Given the description of an element on the screen output the (x, y) to click on. 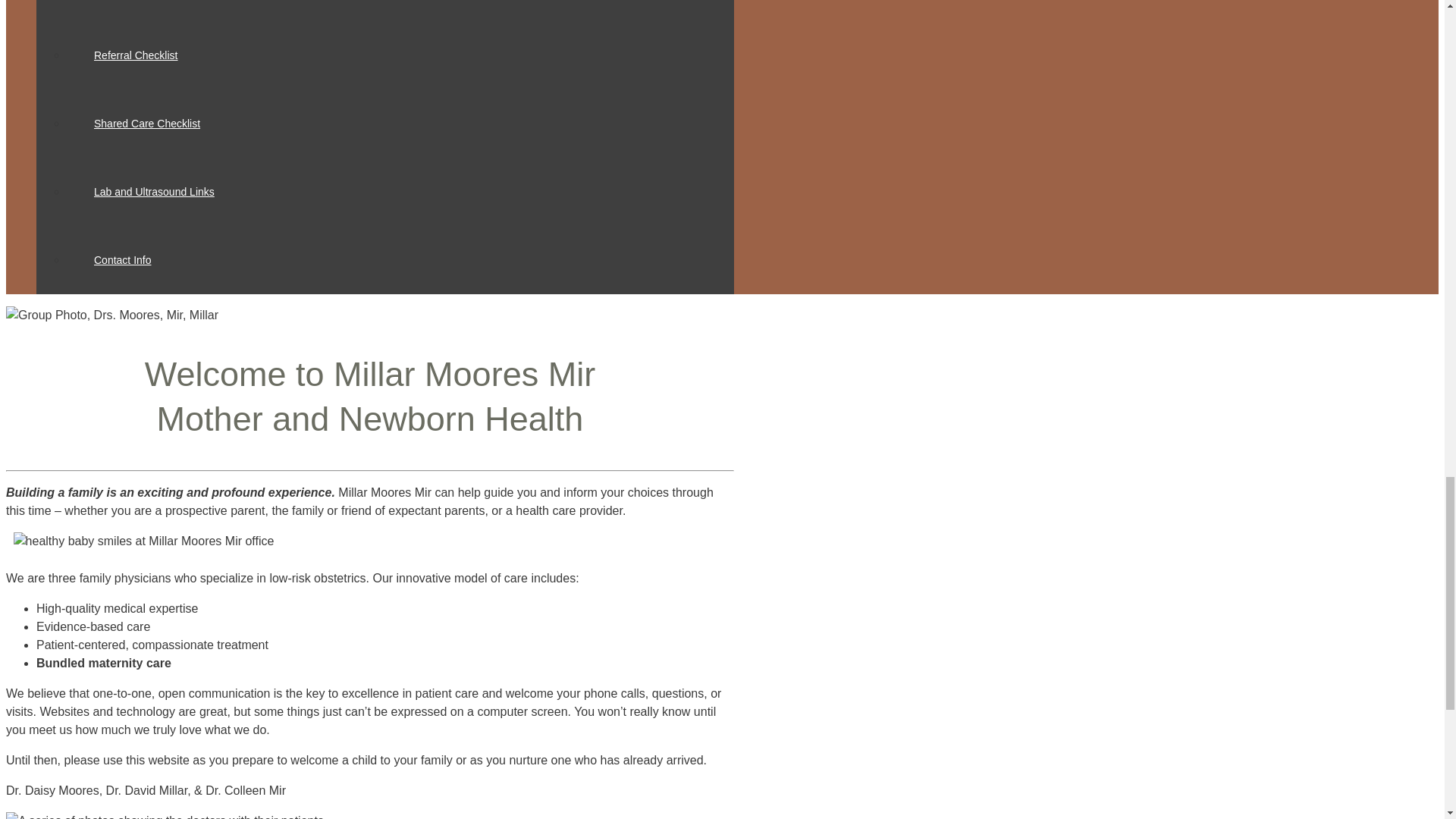
Lab and Ultrasound Links (153, 191)
Referral Checklist (135, 54)
Contact Info (122, 259)
Shared Care Checklist (146, 123)
